Given the description of an element on the screen output the (x, y) to click on. 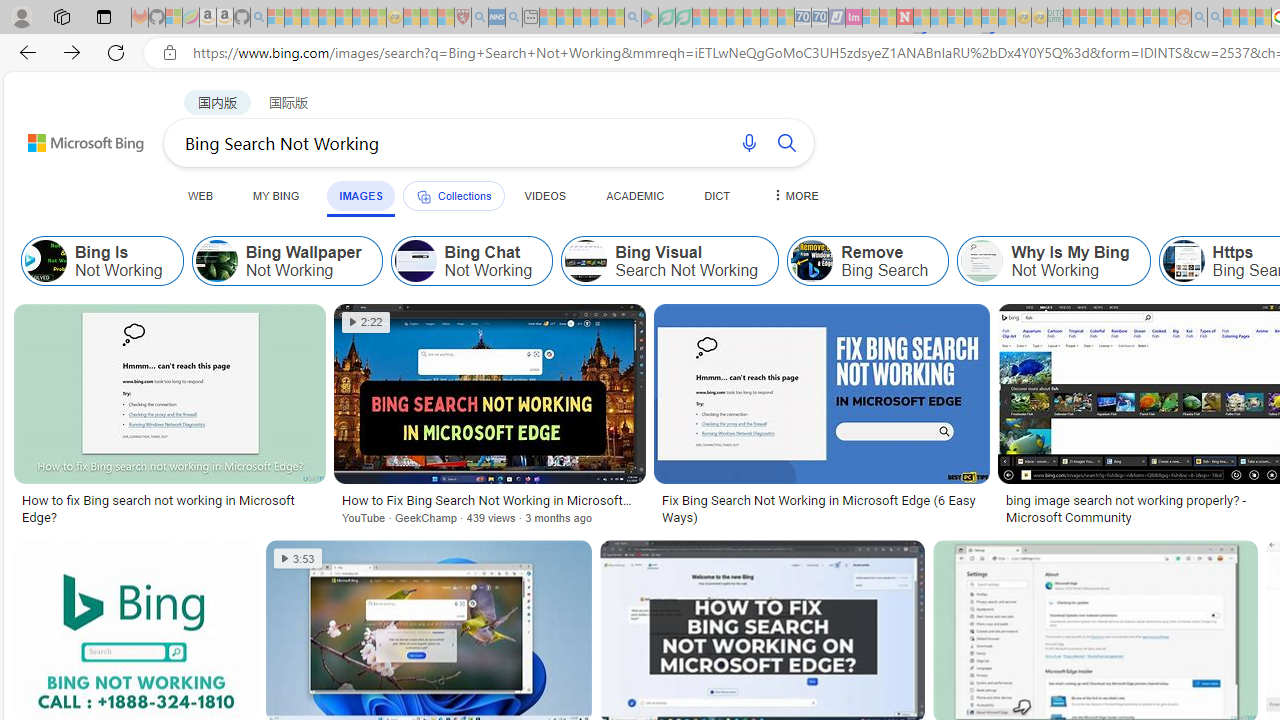
MY BING (276, 195)
Recipes - MSN - Sleeping (411, 17)
New Report Confirms 2023 Was Record Hot | Watch - Sleeping (343, 17)
Bing Chat Not Working (471, 260)
New tab - Sleeping (530, 17)
The Weather Channel - MSN - Sleeping (309, 17)
ACADEMIC (635, 195)
